Given the description of an element on the screen output the (x, y) to click on. 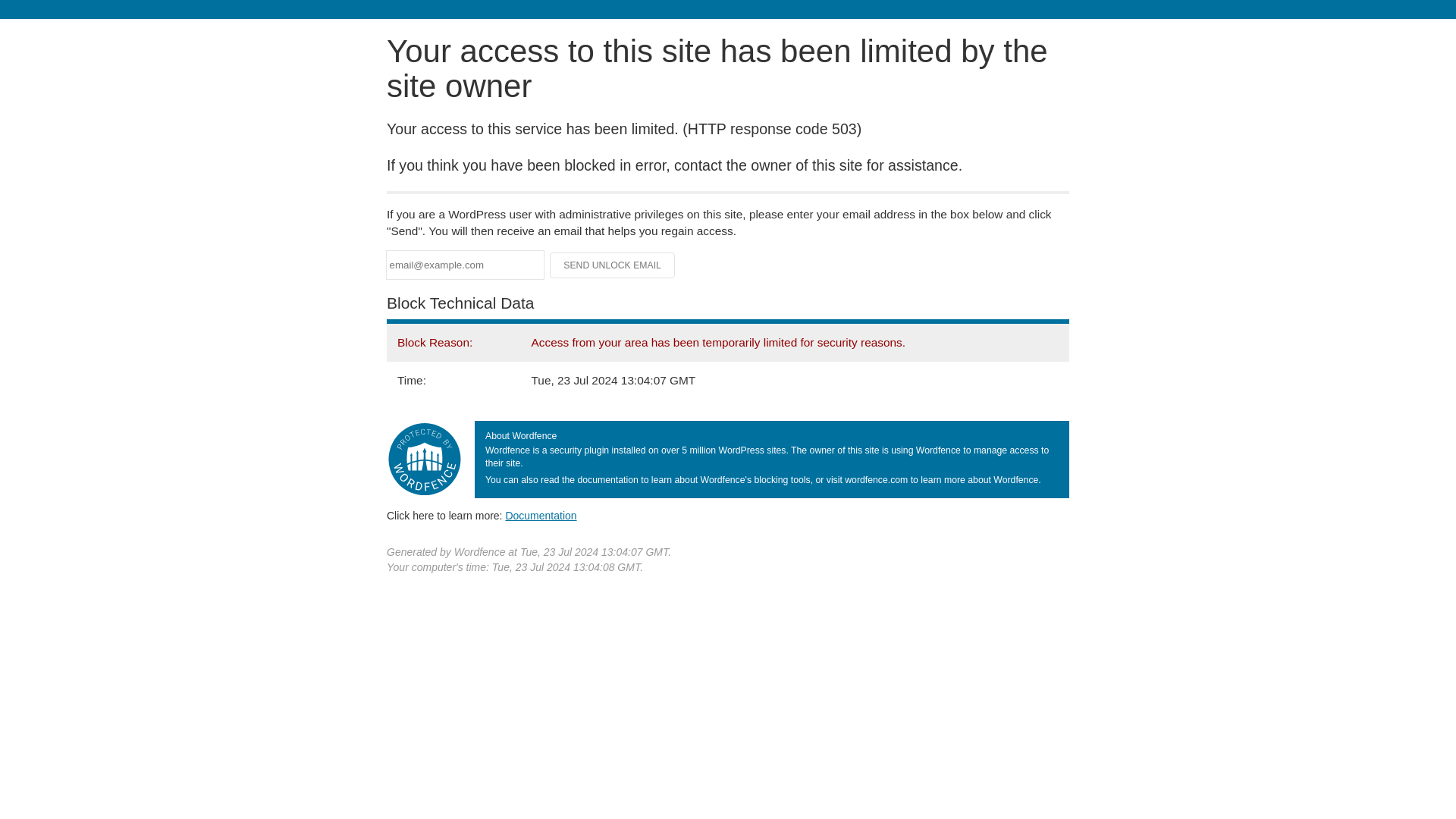
Documentation (540, 515)
Send Unlock Email (612, 265)
Send Unlock Email (612, 265)
